Given the description of an element on the screen output the (x, y) to click on. 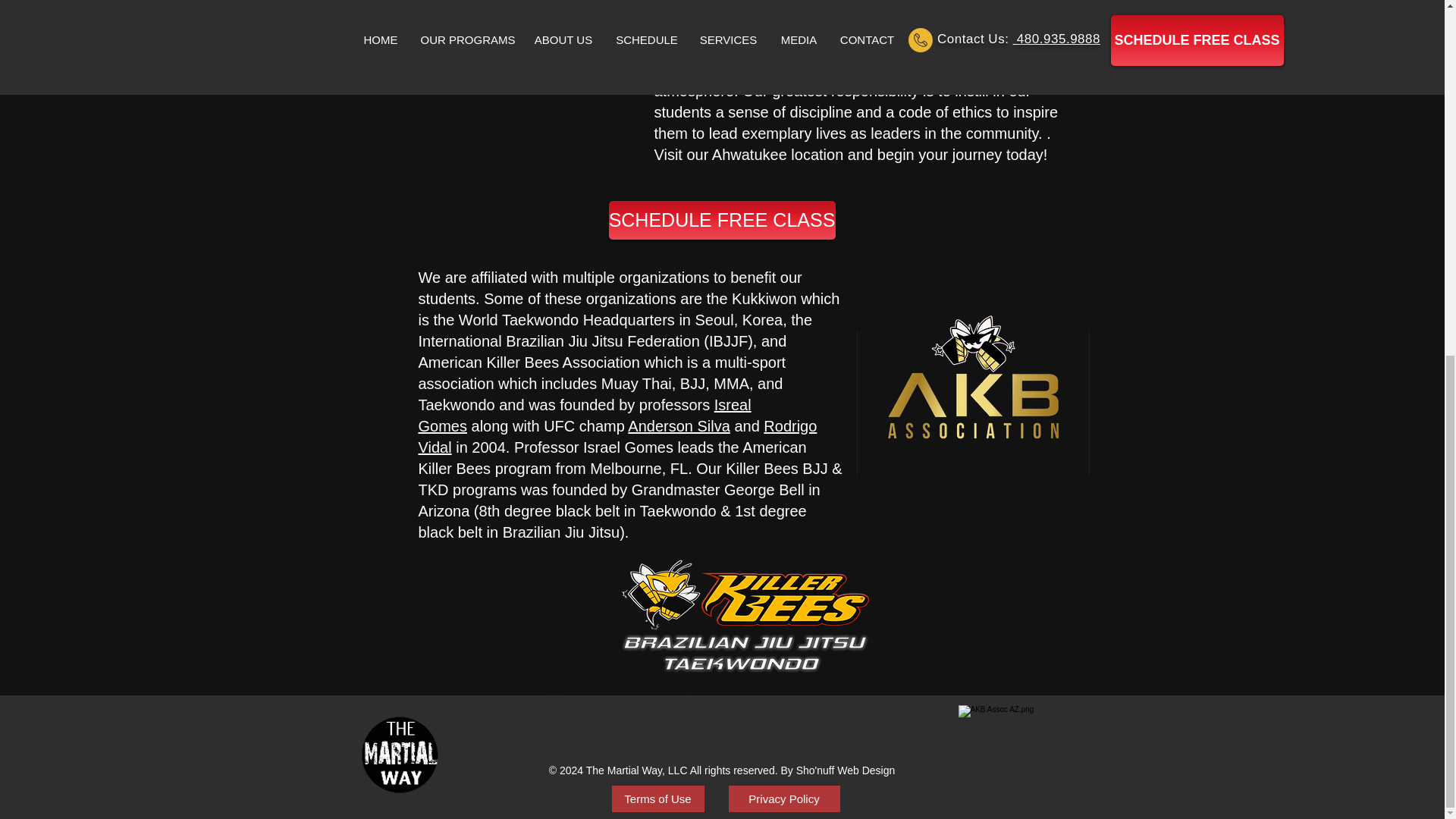
Rodrigo Vidal (617, 436)
Privacy Policy (784, 798)
Terms of Use (657, 798)
Anderson Silva (678, 425)
SCHEDULE FREE CLASS (721, 219)
Isreal Gomes (585, 415)
